Given the description of an element on the screen output the (x, y) to click on. 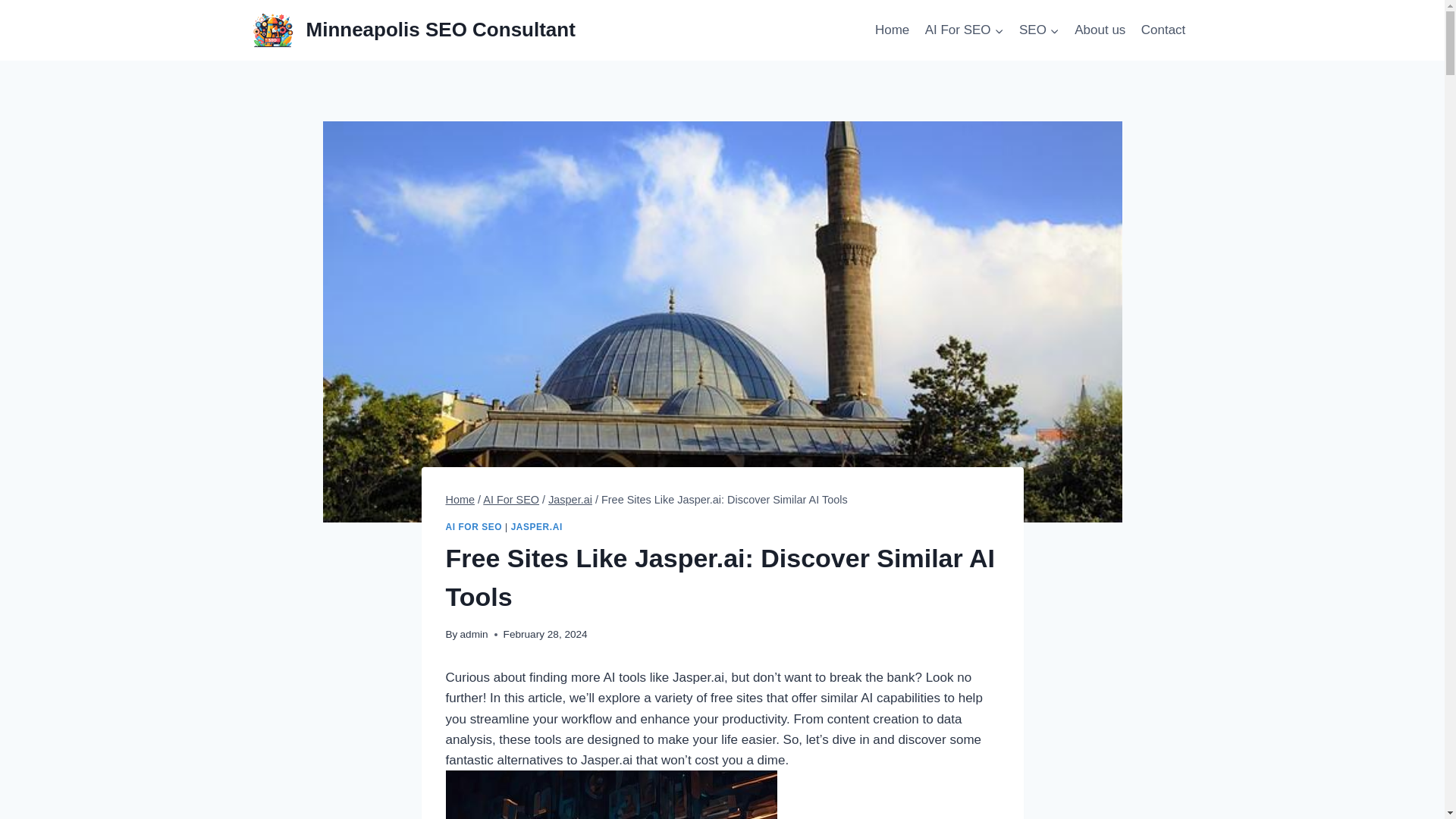
admin (473, 633)
Home (460, 499)
Home (892, 30)
Jasper.ai (570, 499)
JASPER.AI (536, 526)
AI For SEO (510, 499)
About us (1099, 30)
Contact (1163, 30)
AI For SEO (963, 30)
AI FOR SEO (473, 526)
